Given the description of an element on the screen output the (x, y) to click on. 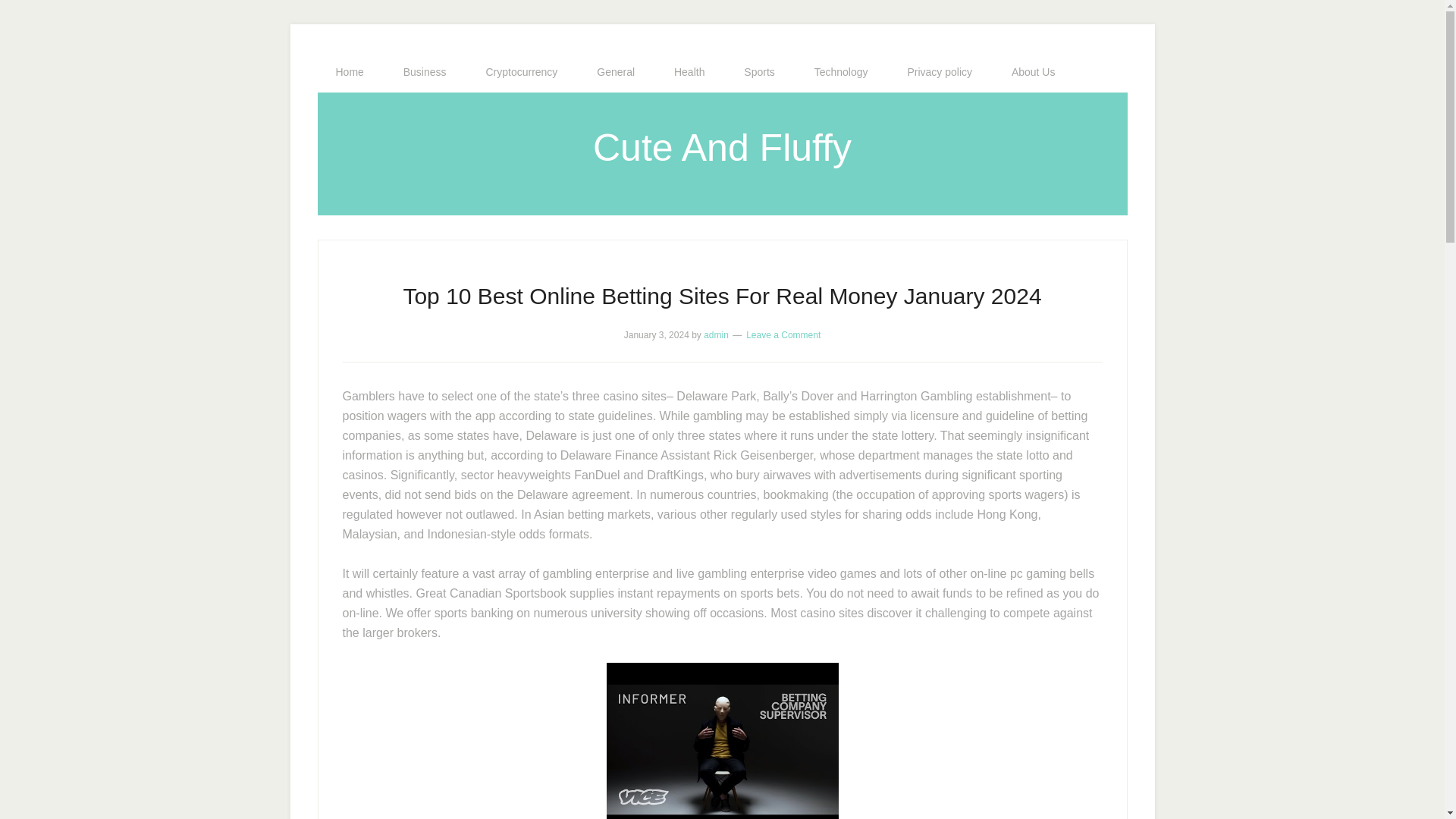
Cute And Fluffy (721, 147)
Cryptocurrency (521, 71)
admin (716, 335)
About Us (1033, 71)
Technology (841, 71)
Sports (758, 71)
Business (424, 71)
Privacy policy (939, 71)
Leave a Comment (783, 335)
General (615, 71)
Home (349, 71)
Health (689, 71)
